Given the description of an element on the screen output the (x, y) to click on. 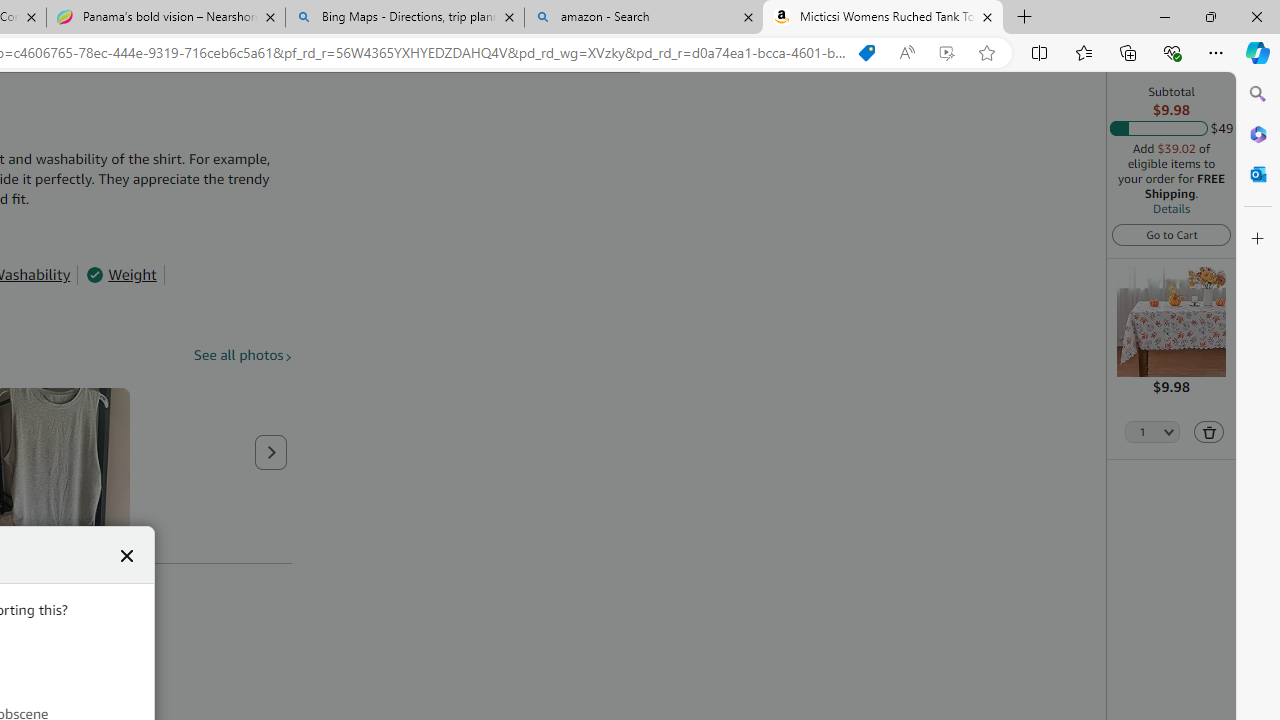
Enhance video (946, 53)
Next page (271, 452)
amazon - Search (643, 17)
See all photos (243, 355)
